Given the description of an element on the screen output the (x, y) to click on. 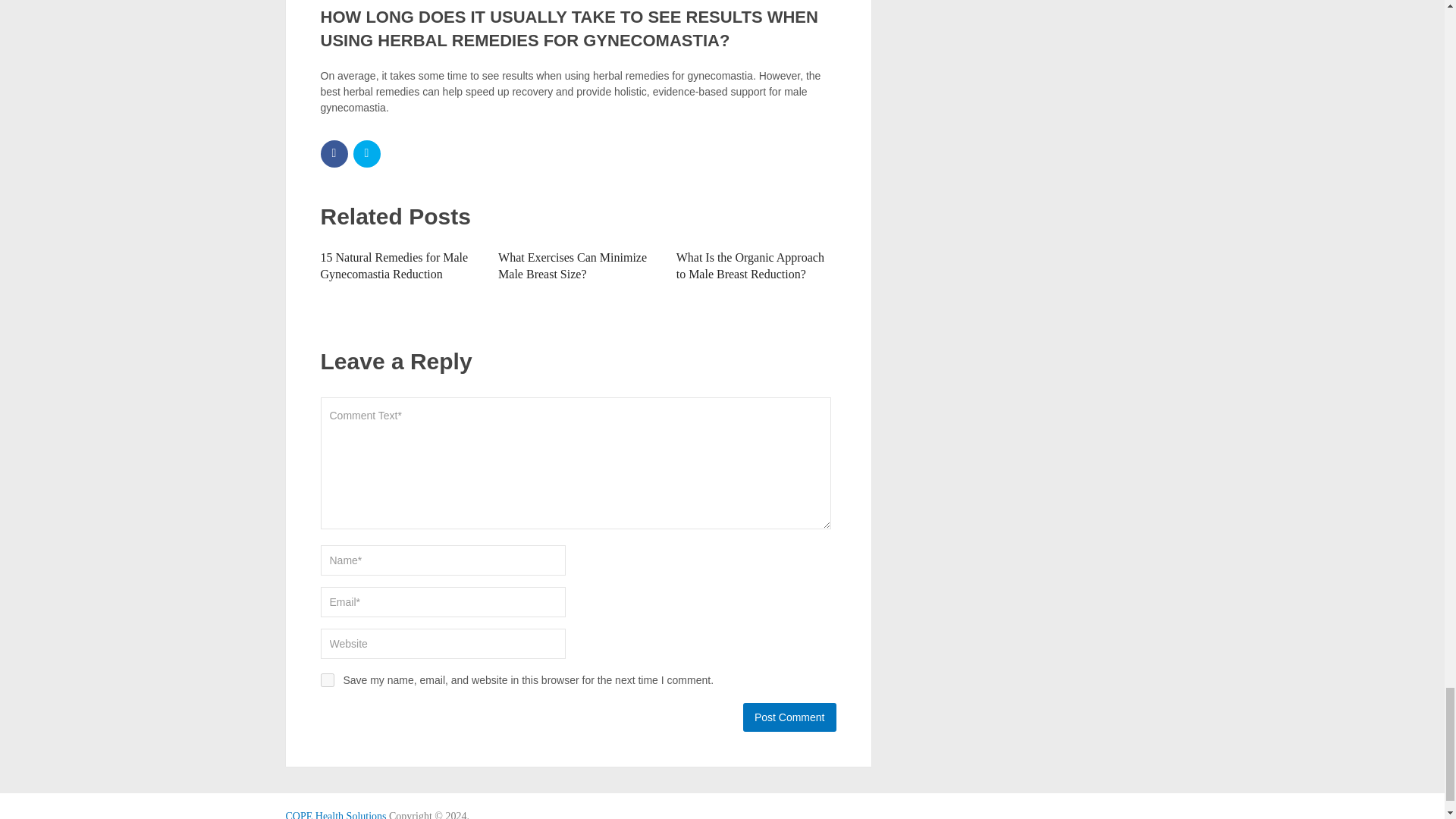
15 Natural Remedies for Male Gynecomastia Reduction (393, 265)
What Exercises Can Minimize Male Breast Size? (571, 265)
What Is the Organic Approach to Male Breast Reduction? (750, 265)
15 Natural Remedies for Male Gynecomastia Reduction (393, 265)
What Exercises Can Minimize Male Breast Size? (571, 265)
Post Comment (788, 717)
What Is the Organic Approach to Male Breast Reduction? (750, 265)
Post Comment (788, 717)
yes (326, 680)
